Given the description of an element on the screen output the (x, y) to click on. 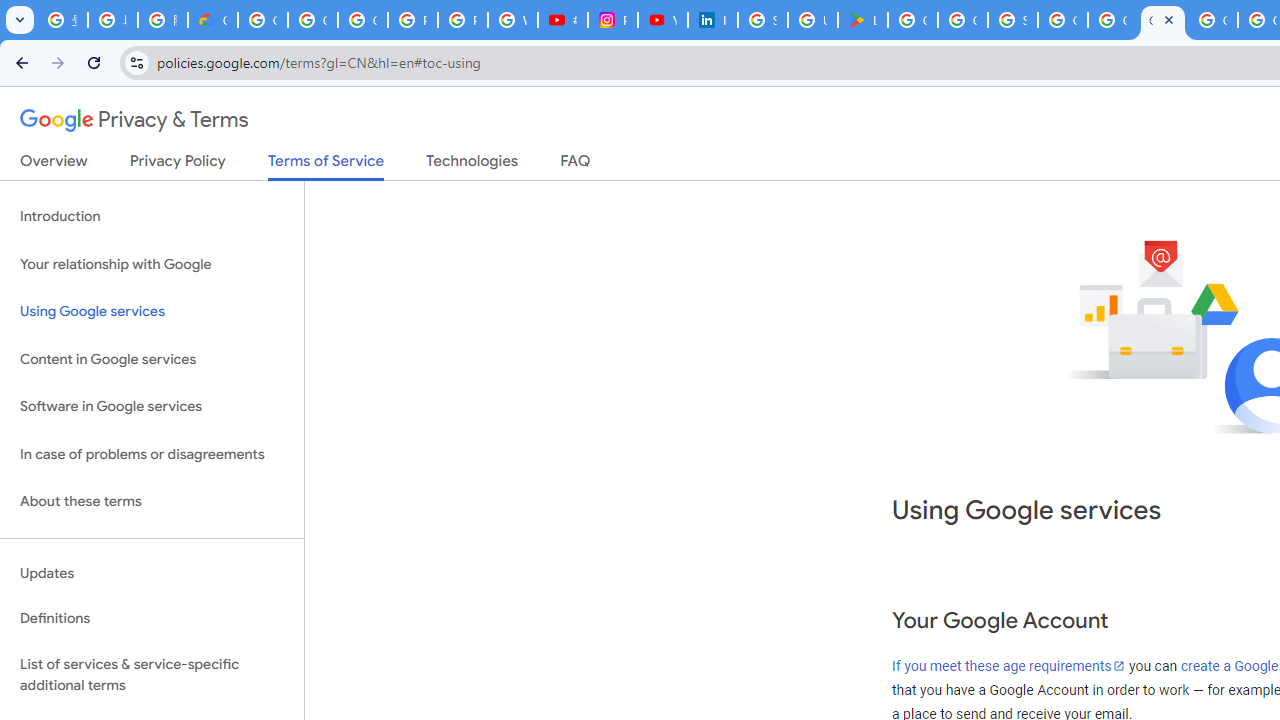
Your relationship with Google (152, 263)
Sign in - Google Accounts (763, 20)
Google Workspace - Specific Terms (963, 20)
About these terms (152, 502)
Software in Google services (152, 407)
Google Cloud Platform (1062, 20)
